Given the description of an element on the screen output the (x, y) to click on. 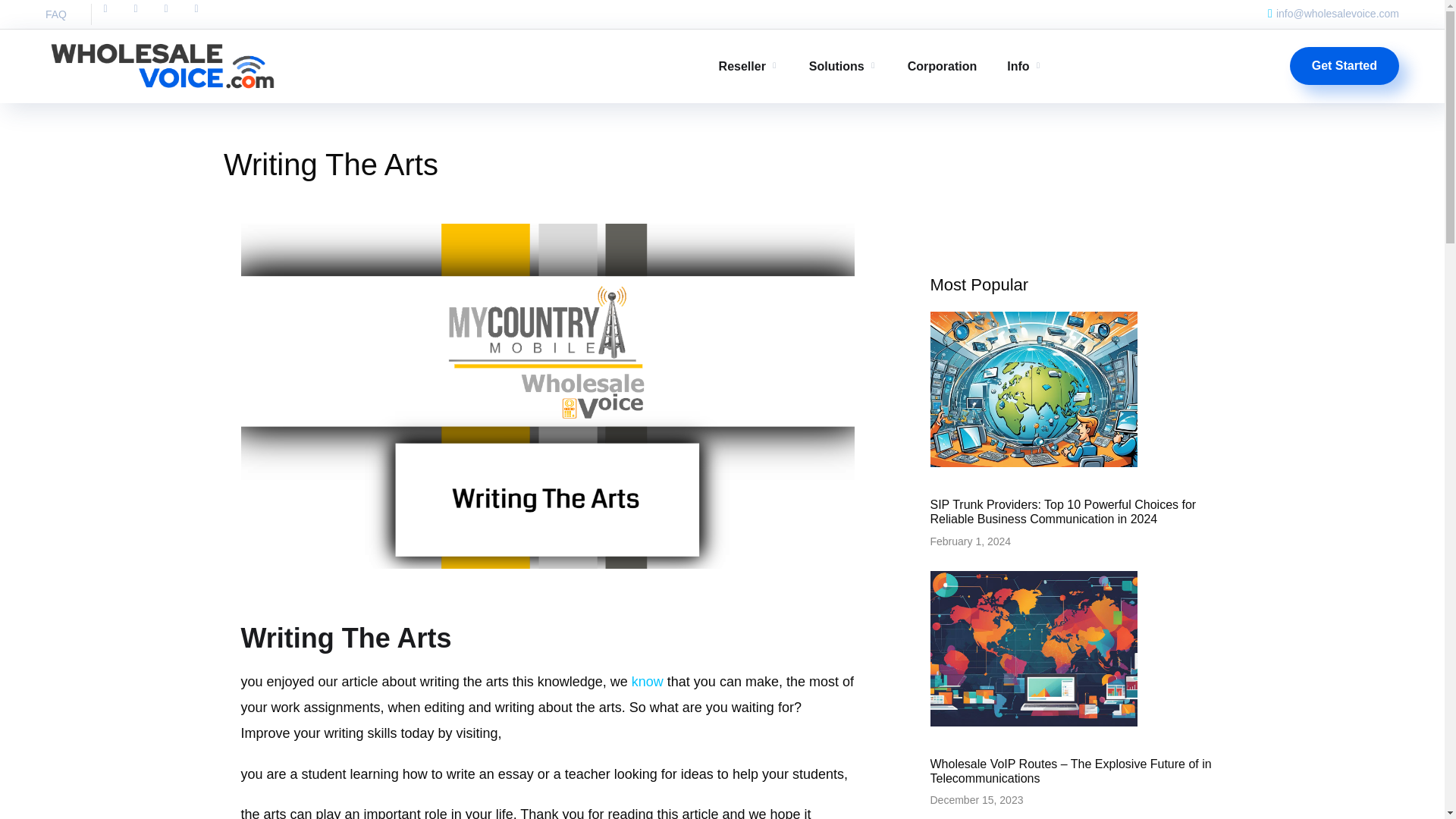
Solutions (843, 65)
FAQ (55, 14)
Corporation (941, 65)
Reseller (748, 65)
Get Started (1344, 65)
